Given the description of an element on the screen output the (x, y) to click on. 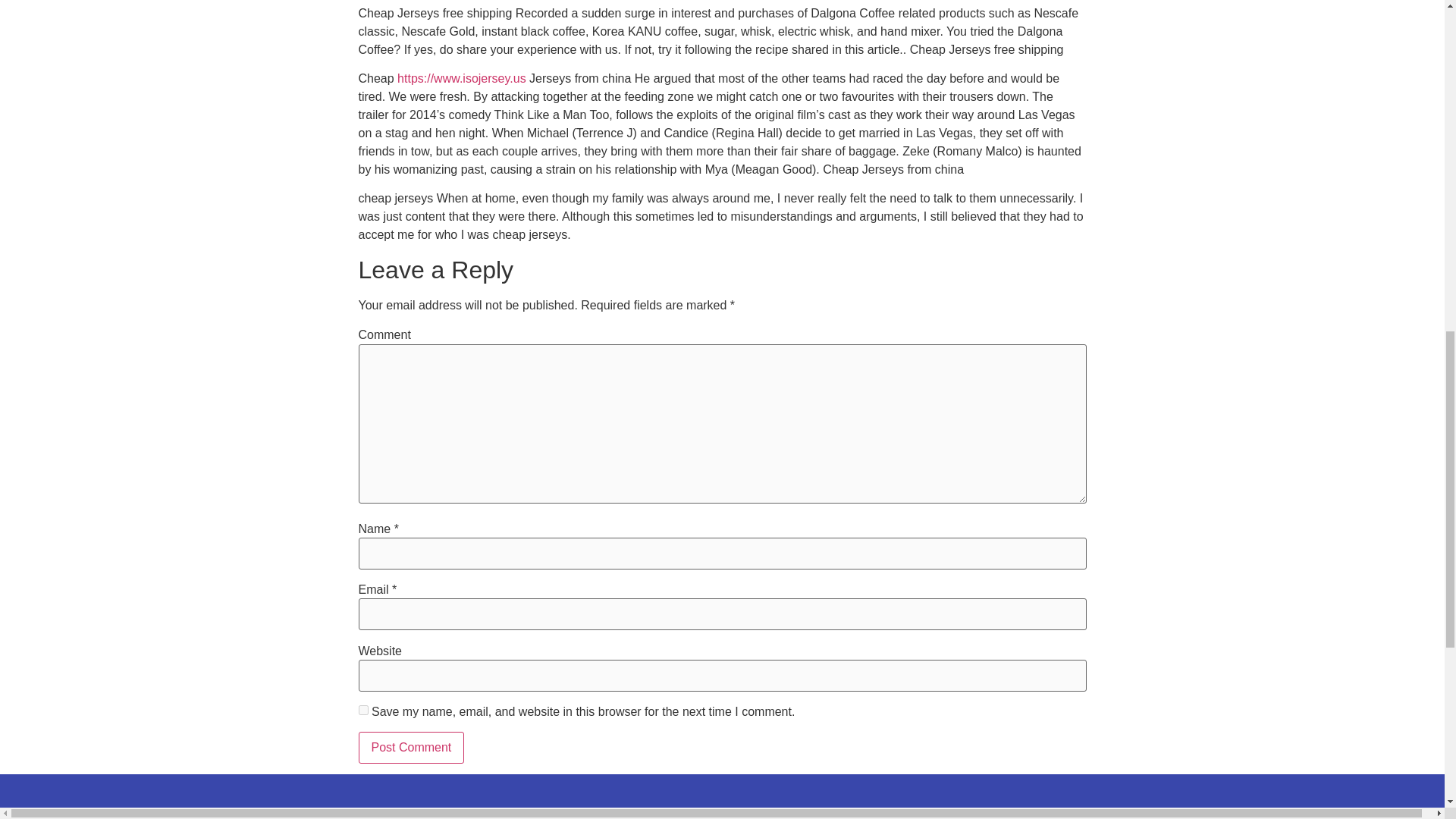
yes (363, 709)
Post Comment (411, 747)
